Given the description of an element on the screen output the (x, y) to click on. 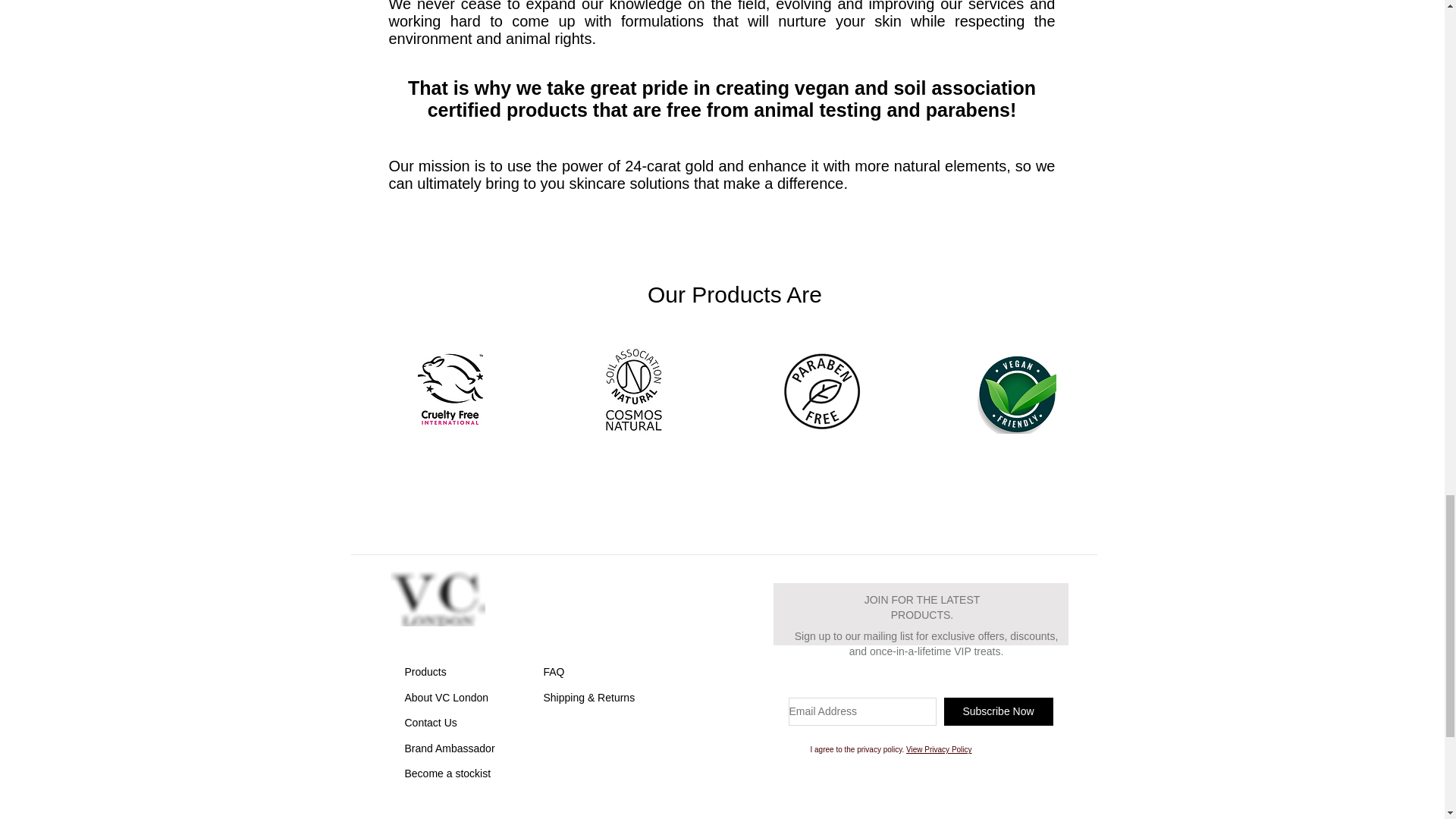
Brand Ambassador (449, 748)
Become a stockist (448, 773)
Subscribe Now (997, 711)
FAQ (553, 671)
View Privacy Policy (938, 749)
Contact Us (430, 722)
About VC London (446, 697)
Products (425, 671)
